Given the description of an element on the screen output the (x, y) to click on. 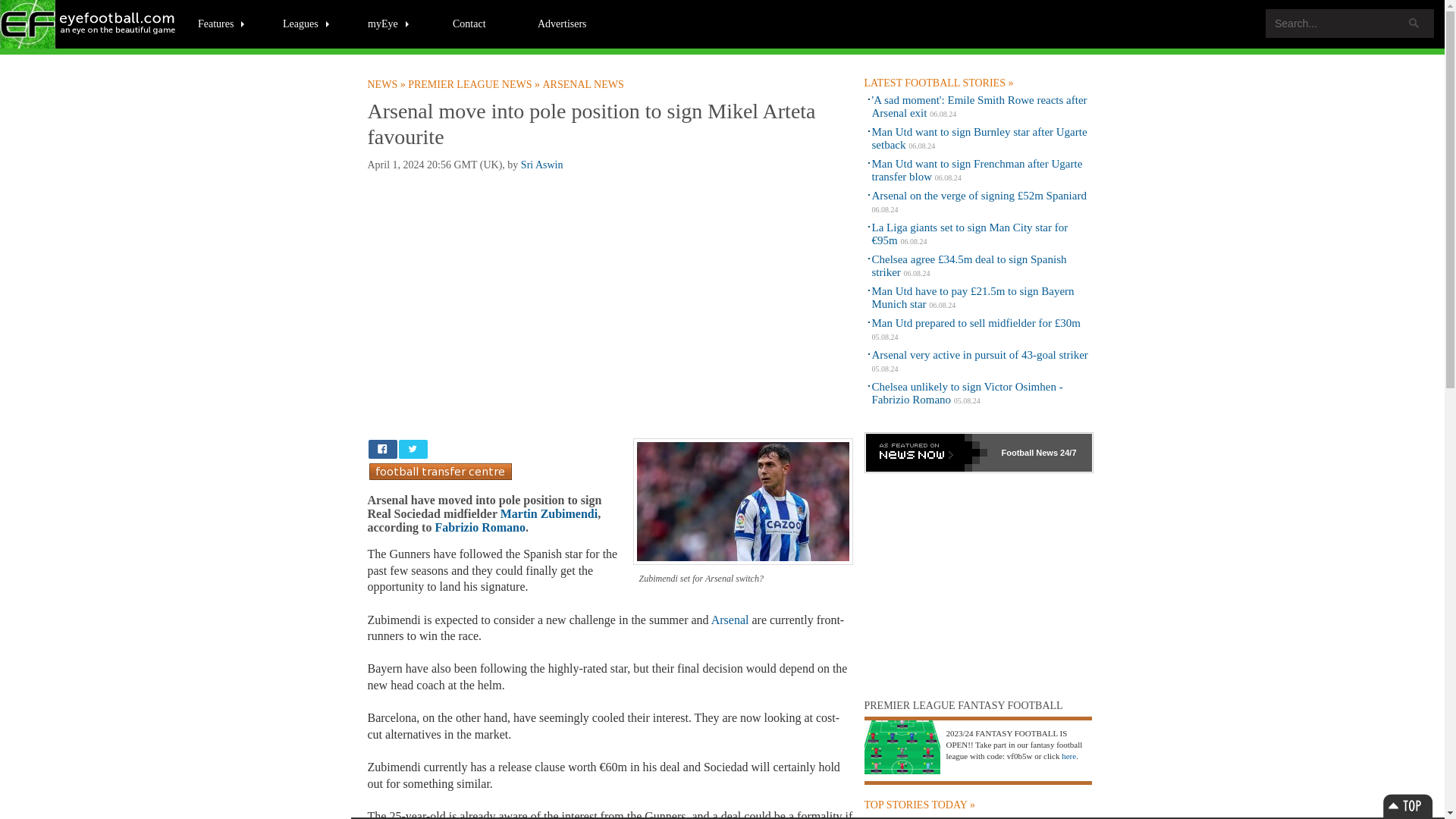
Martin Zubimendi (548, 513)
Search (1414, 22)
Top (1407, 805)
Search (1414, 22)
Search... (1349, 23)
Features (221, 23)
Leagues (306, 23)
Sri Aswin (542, 164)
Premier League news (474, 84)
Advertisers (561, 23)
myEye (389, 23)
ARSENAL NEWS (583, 84)
Football News (88, 24)
Arsenal (730, 619)
Football News (386, 84)
